Given the description of an element on the screen output the (x, y) to click on. 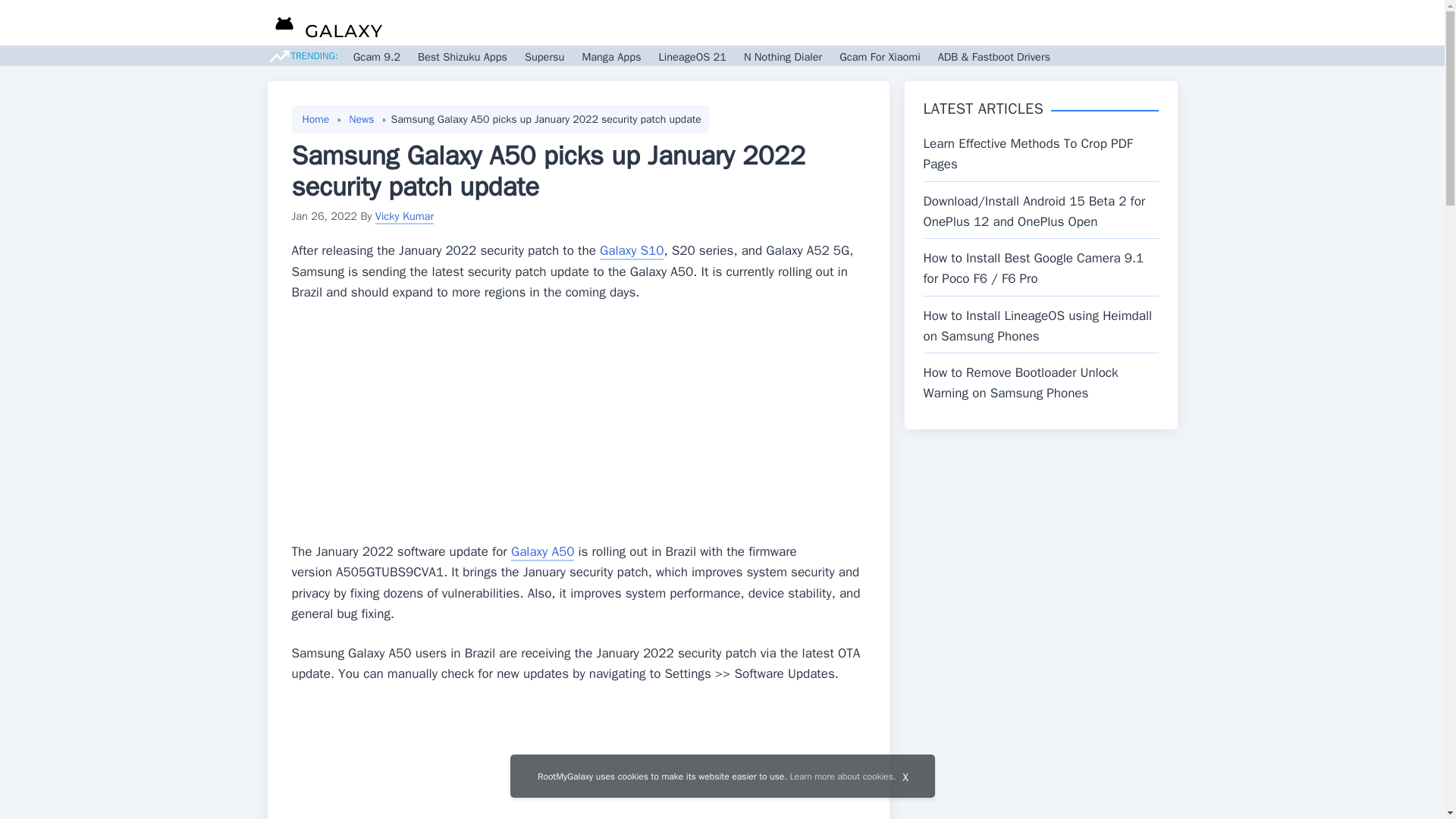
Galaxy A50 (542, 552)
About Us (1101, 22)
News (734, 22)
Supersu (544, 56)
Guides (785, 22)
Gcam For Xiaomi (880, 56)
Best Shizuku Apps (461, 56)
Advertisement (577, 761)
Gcam 9.2 (376, 56)
N Nothing Dialer (783, 56)
Gcam (837, 22)
Rootmygalaxy (325, 25)
Galaxy S10 (631, 251)
LineageOS 21 (691, 56)
Manga Apps (610, 56)
